Given the description of an element on the screen output the (x, y) to click on. 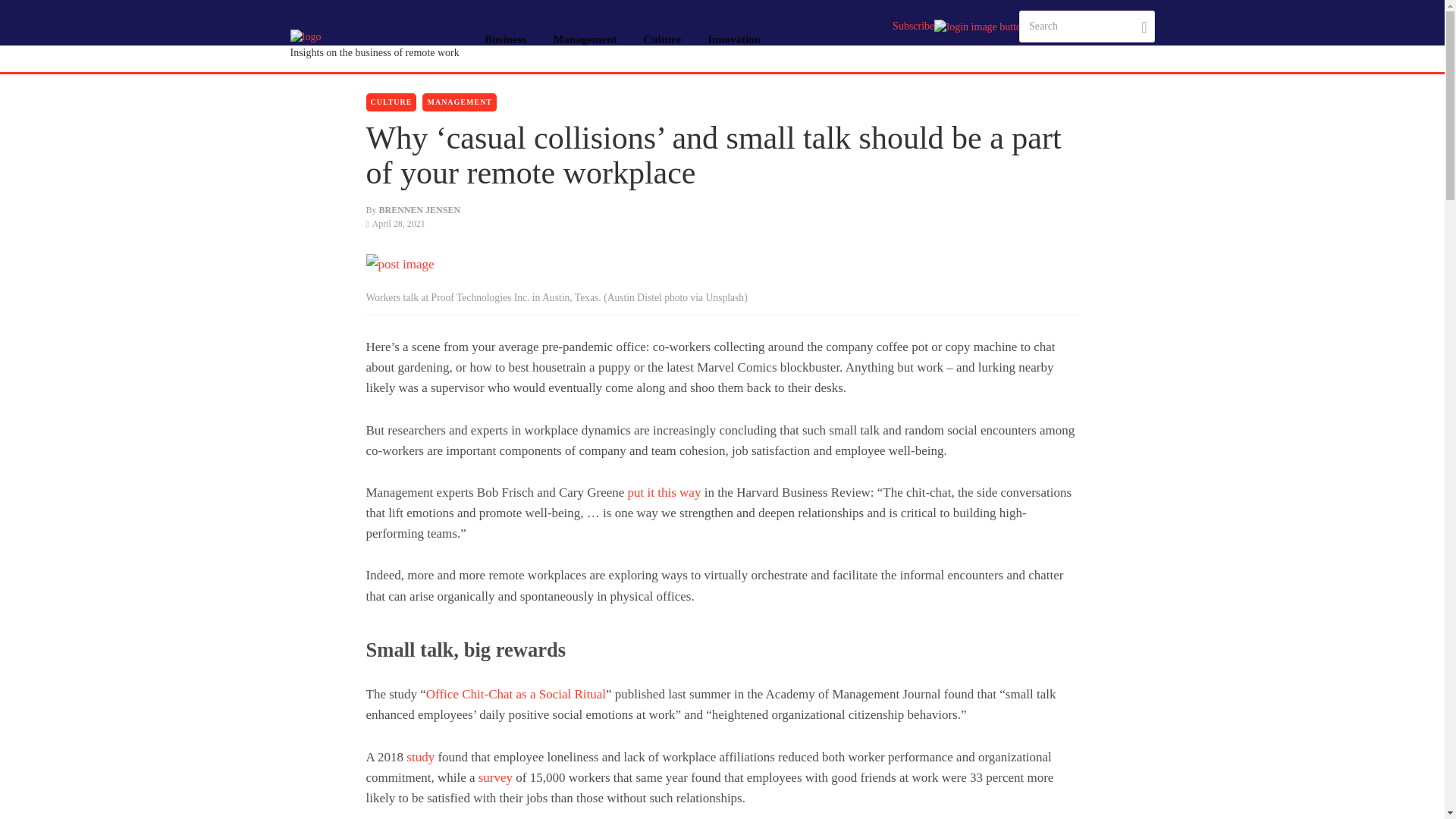
Culture (662, 39)
study (419, 757)
member login (976, 27)
CULTURE (390, 102)
put it this way (664, 492)
April 28, 2021 at 3:40 am (395, 223)
Posts by Brennen Jensen (419, 209)
Management (585, 39)
survey (495, 777)
Innovation (734, 39)
